Given the description of an element on the screen output the (x, y) to click on. 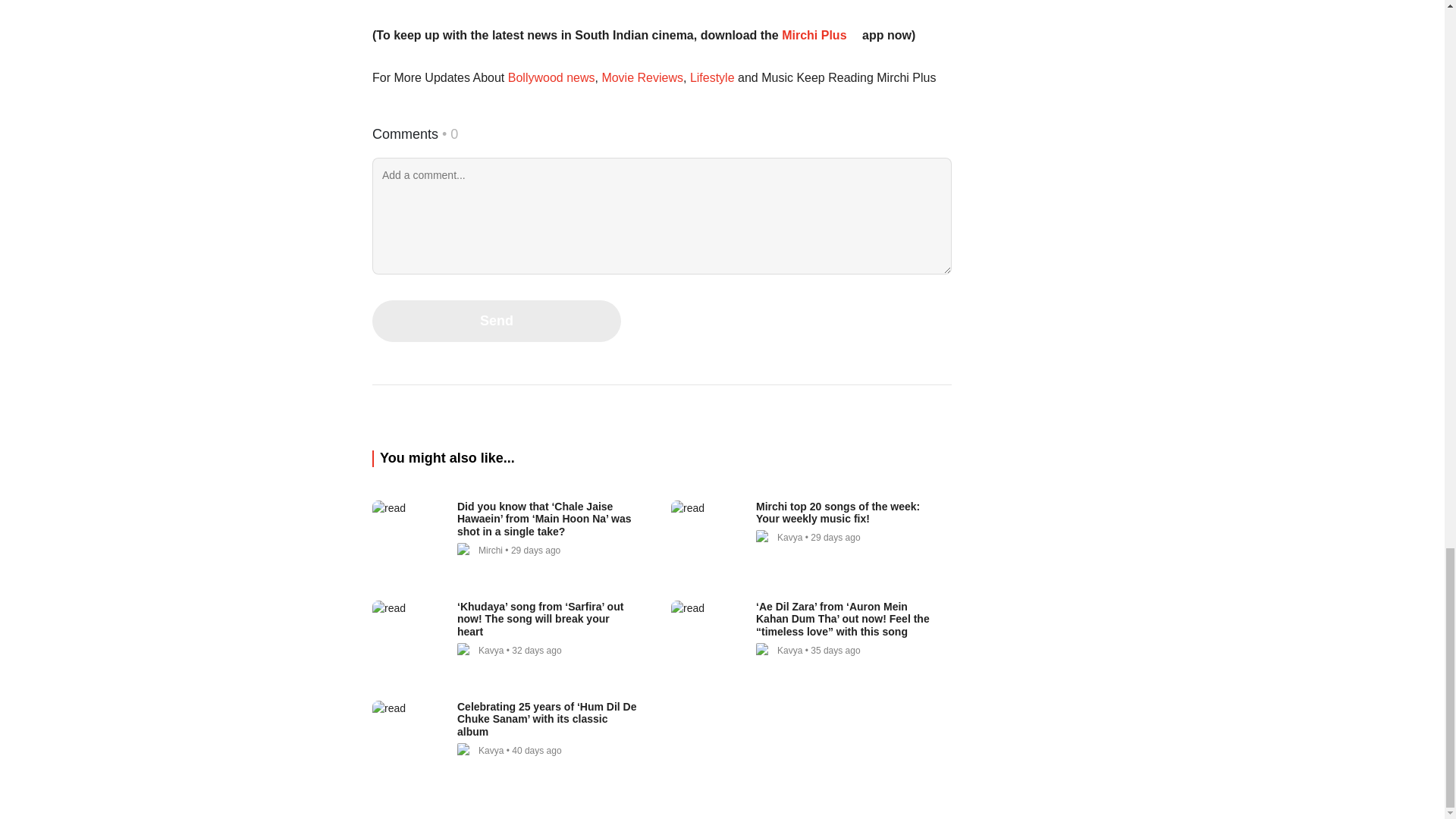
Bollywood news (550, 77)
Lifestyle (710, 77)
Movie Reviews (641, 77)
